Given the description of an element on the screen output the (x, y) to click on. 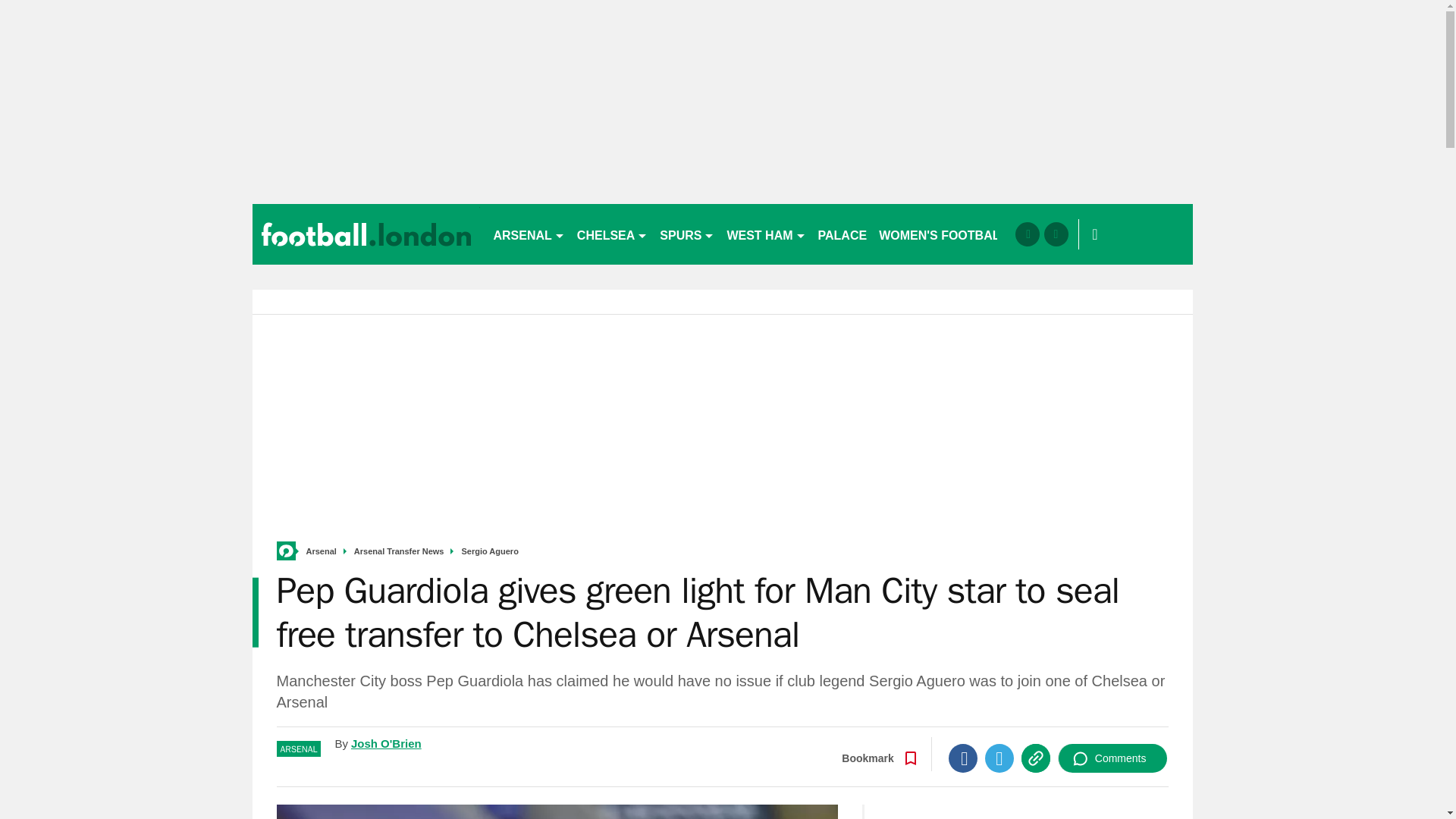
Twitter (999, 758)
CHELSEA (611, 233)
twitter (1055, 233)
Comments (1112, 758)
WOMEN'S FOOTBALL (942, 233)
facebook (1026, 233)
WEST HAM (765, 233)
footballlondon (365, 233)
PALACE (842, 233)
SPURS (686, 233)
Facebook (962, 758)
ARSENAL (528, 233)
